Given the description of an element on the screen output the (x, y) to click on. 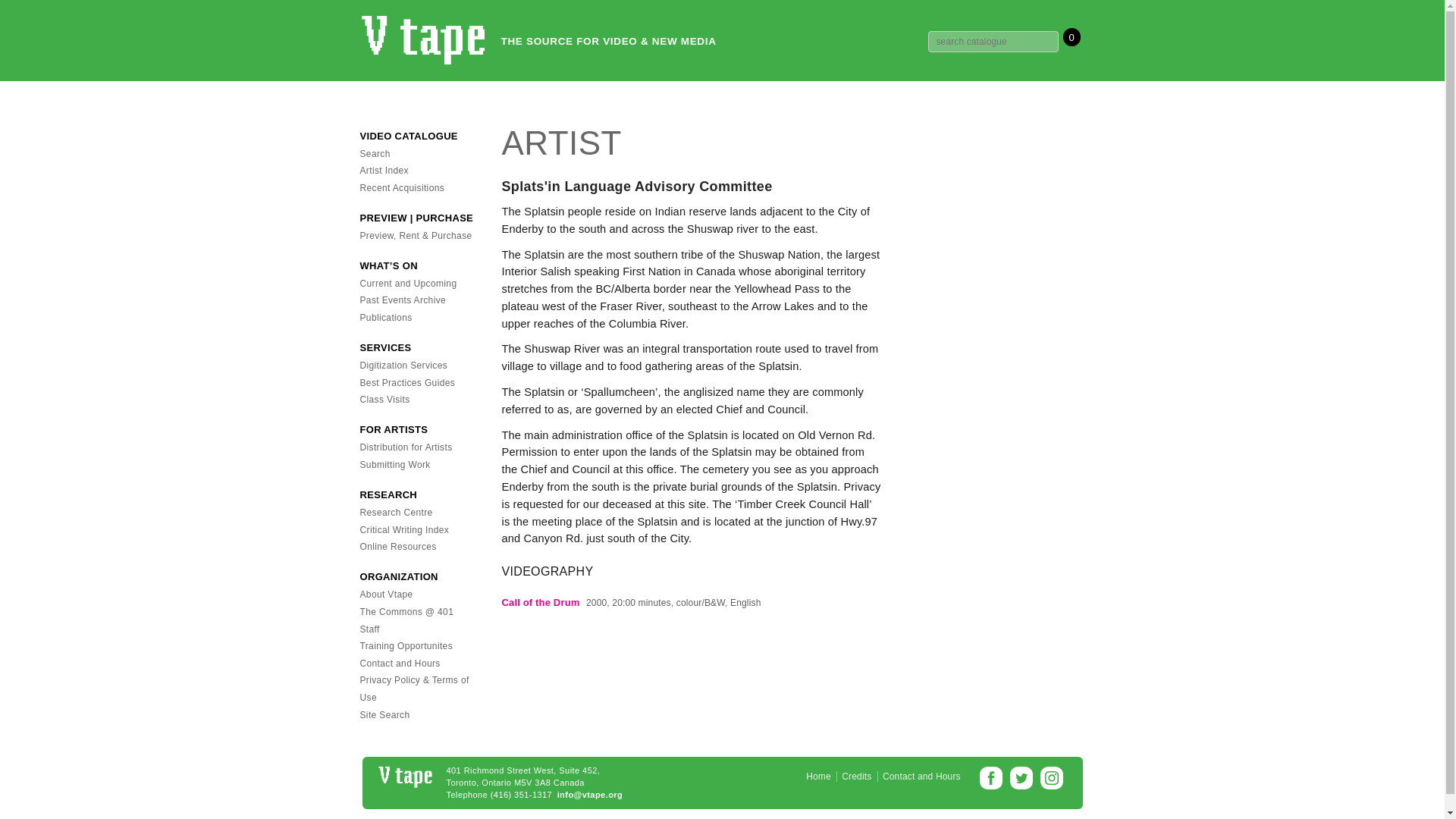
Critical Writing Index Search (403, 529)
Artist Index (383, 170)
Search (374, 153)
Call of the Drum (540, 602)
Past Events Archive (402, 299)
Search catalogue: (993, 41)
Recent Acquisitions (401, 187)
Current and Upcoming (408, 283)
